Given the description of an element on the screen output the (x, y) to click on. 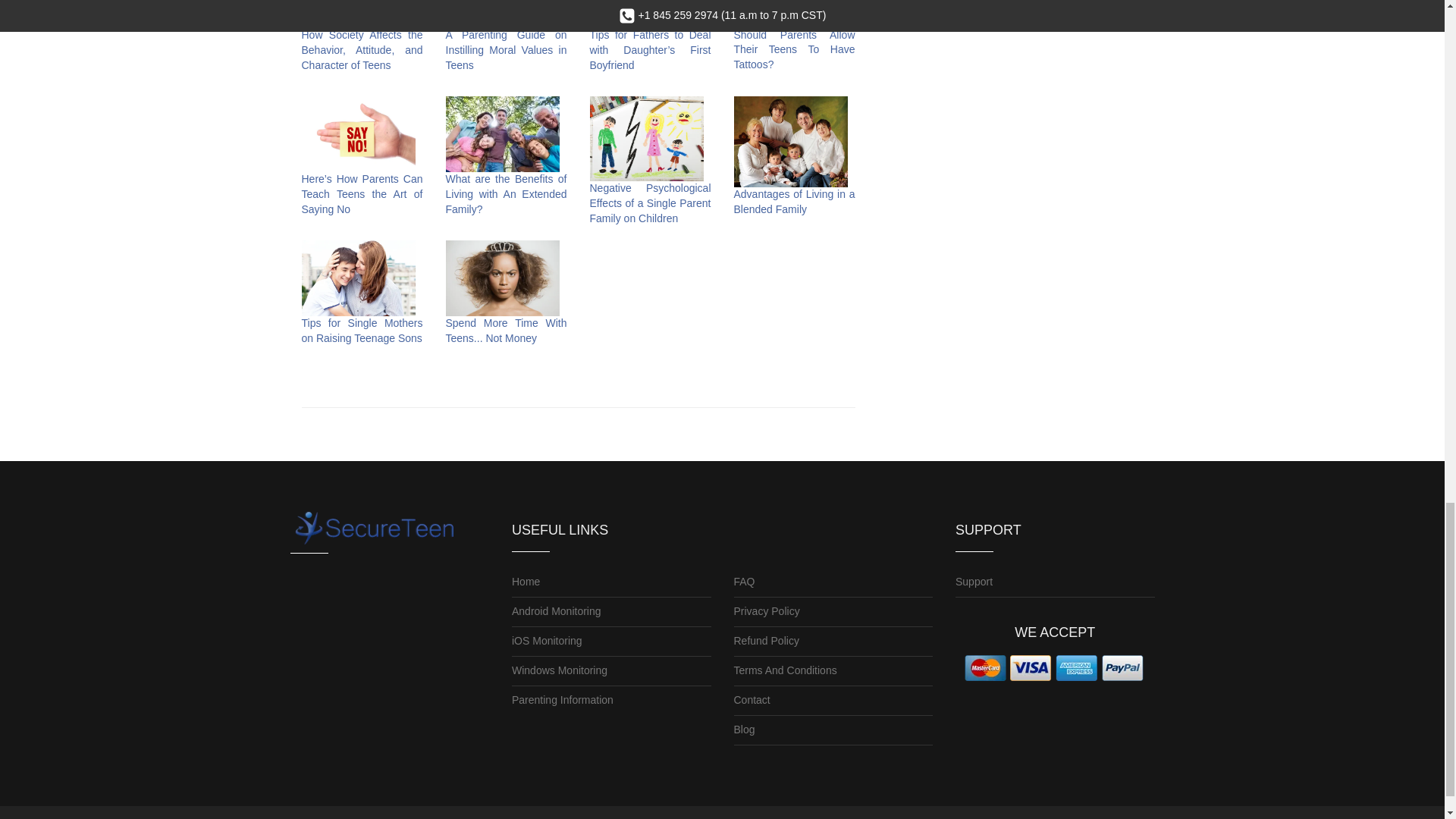
Spend More Time With Teens... Not Money (506, 329)
Advantages of Living in a Blended Family (794, 201)
What are the Benefits of Living with An Extended Family? (506, 193)
A Parenting Guide on Instilling Moral Values in Teens (506, 49)
Tips for Single Mothers on Raising Teenage Sons (362, 329)
Should Parents Allow Their Teens To Have Tattoos? (794, 48)
